Given the description of an element on the screen output the (x, y) to click on. 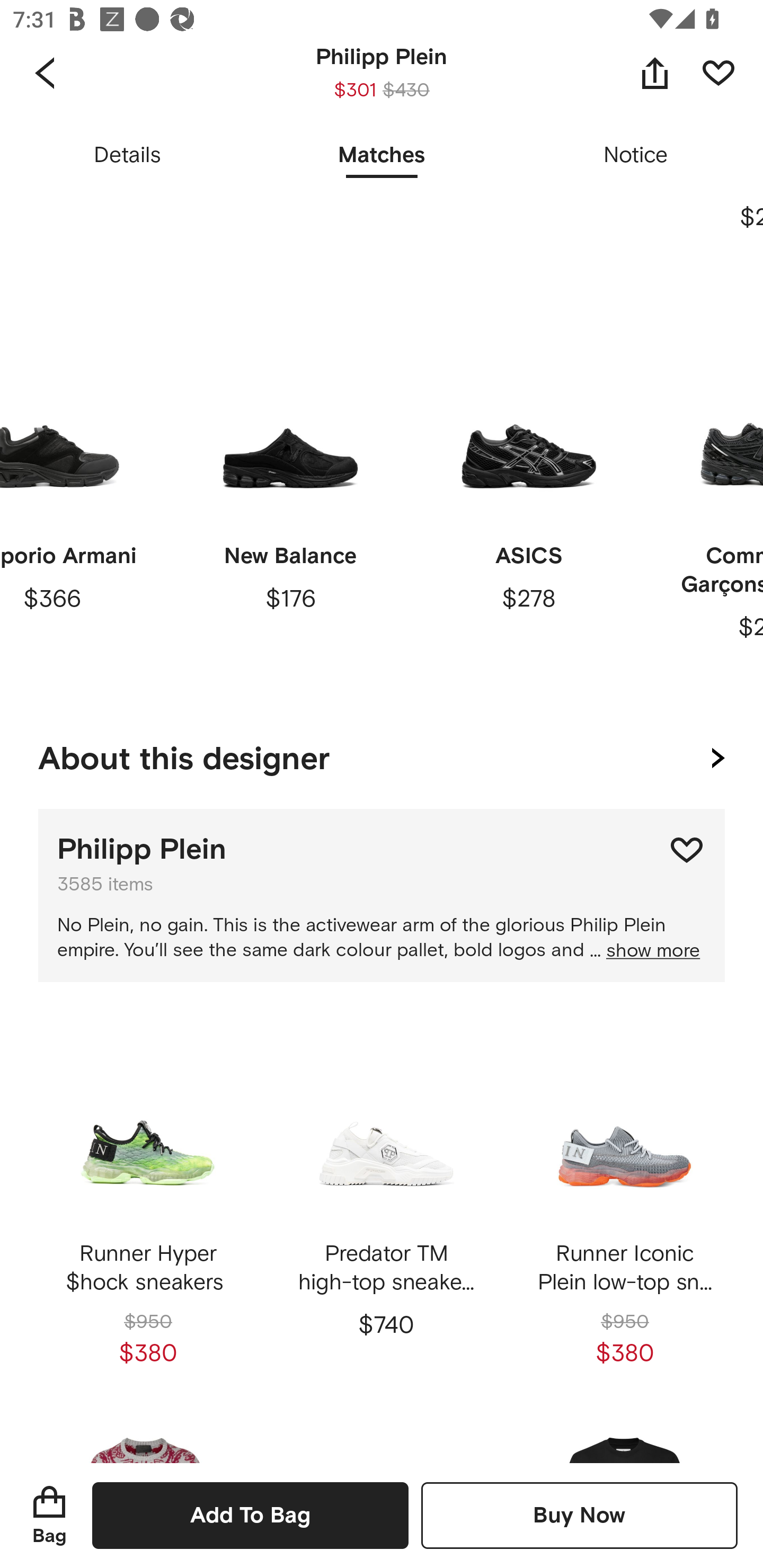
Details (127, 155)
Notice (635, 155)
Emporio Armani $366 (80, 505)
New Balance $176 (289, 505)
ASICS $278 (528, 505)
About this designer (381, 754)
... show more (644, 951)
Runner Hyper $hock sneakers  $950 $380 (147, 1203)
Predator TM high-top sneakers  $740 (385, 1203)
Runner Iconic Plein low-top sneakers $950 $380 (624, 1203)
Bag (49, 1515)
Add To Bag (250, 1515)
Buy Now (579, 1515)
